Given the description of an element on the screen output the (x, y) to click on. 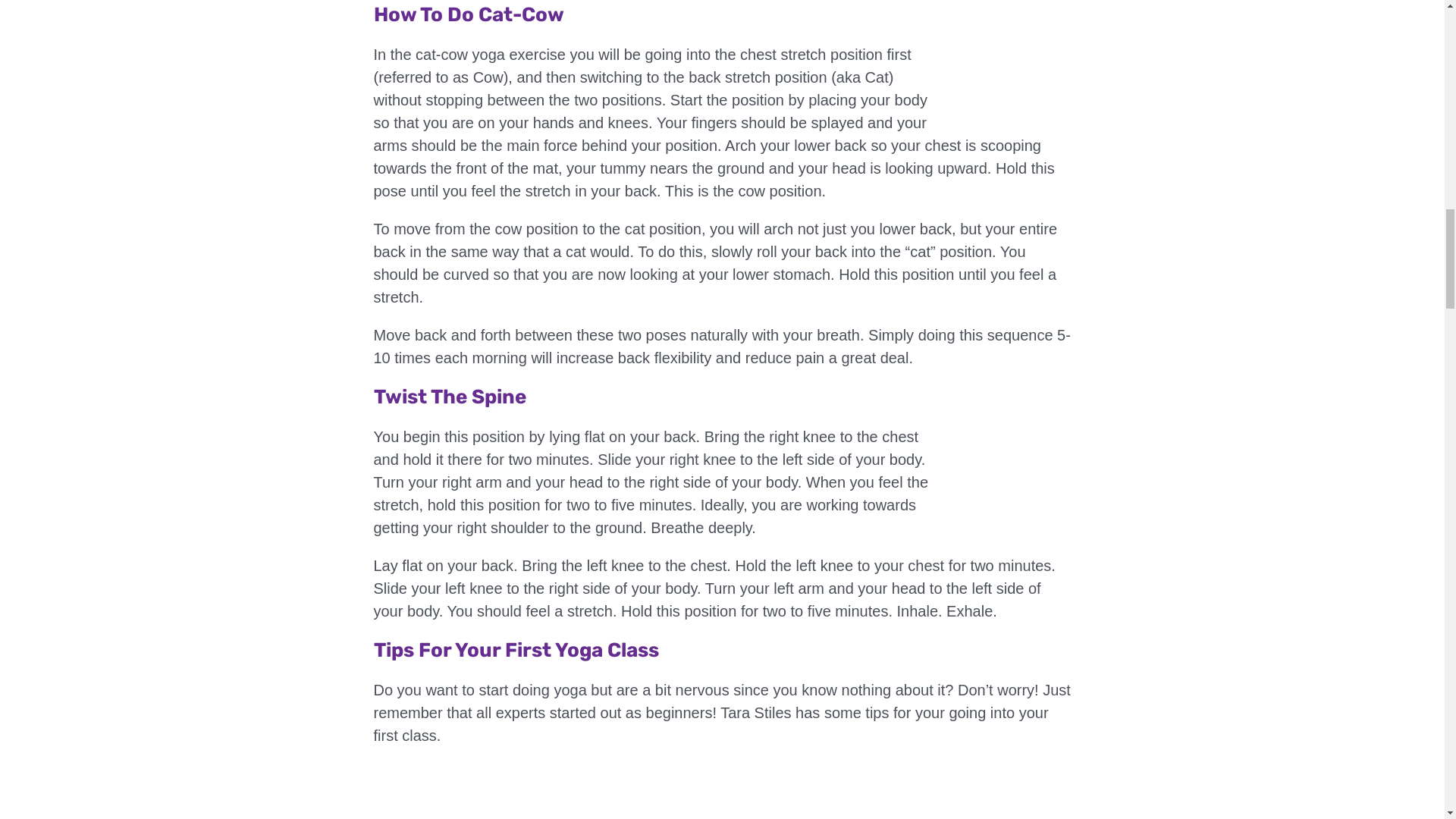
Cat Pose (1013, 81)
Reclining Spinal Twist (1013, 469)
